Given the description of an element on the screen output the (x, y) to click on. 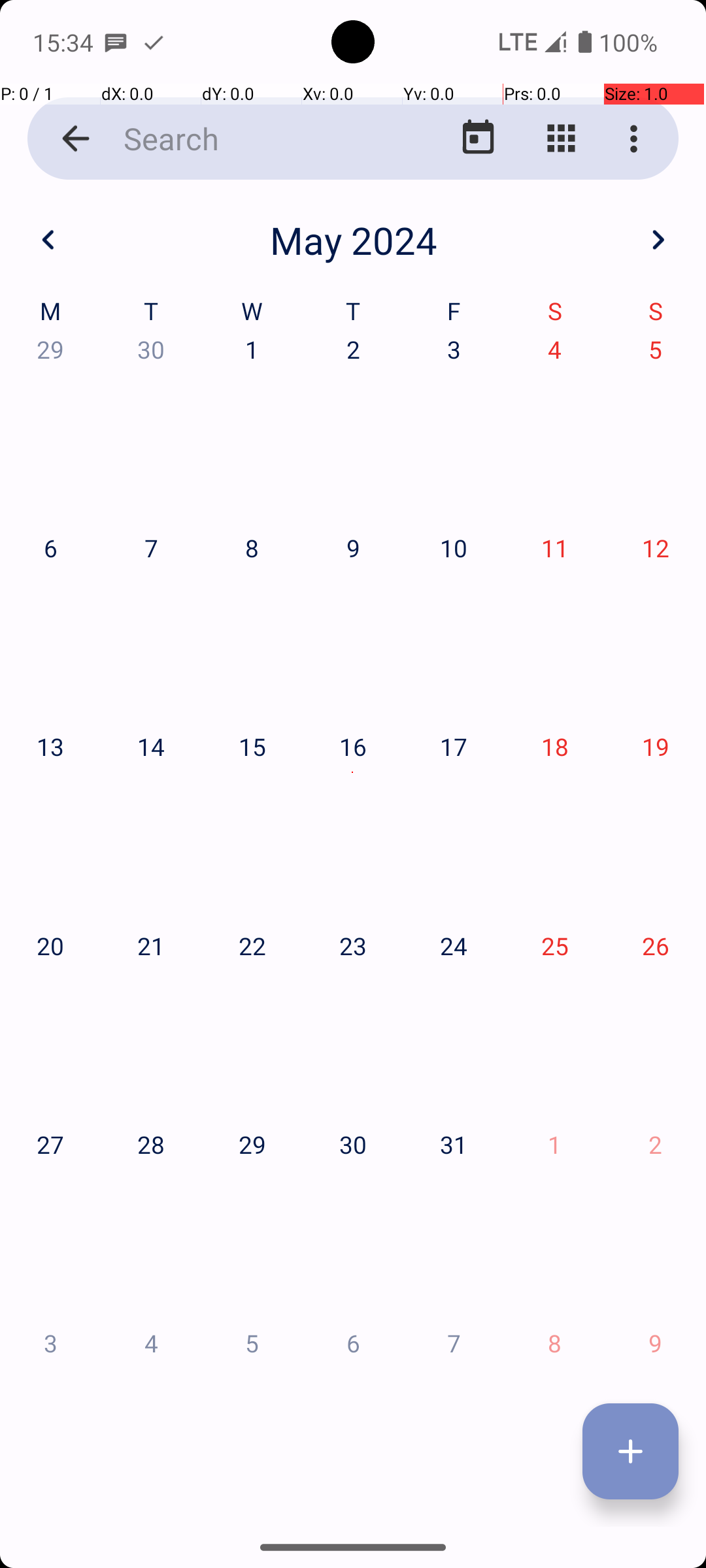
JANUARY Element type: android.widget.TextView (123, 319)
FEBRUARY Element type: android.widget.TextView (352, 319)
MARCH Element type: android.widget.TextView (582, 319)
APRIL Element type: android.widget.TextView (123, 621)
MAY Element type: android.widget.TextView (352, 621)
JUNE Element type: android.widget.TextView (582, 621)
JULY Element type: android.widget.TextView (123, 923)
AUGUST Element type: android.widget.TextView (352, 923)
SEPTEMBER Element type: android.widget.TextView (582, 923)
NOVEMBER Element type: android.widget.TextView (352, 1224)
DECEMBER Element type: android.widget.TextView (582, 1224)
May 2024 Element type: android.widget.TextView (352, 239)
